Given the description of an element on the screen output the (x, y) to click on. 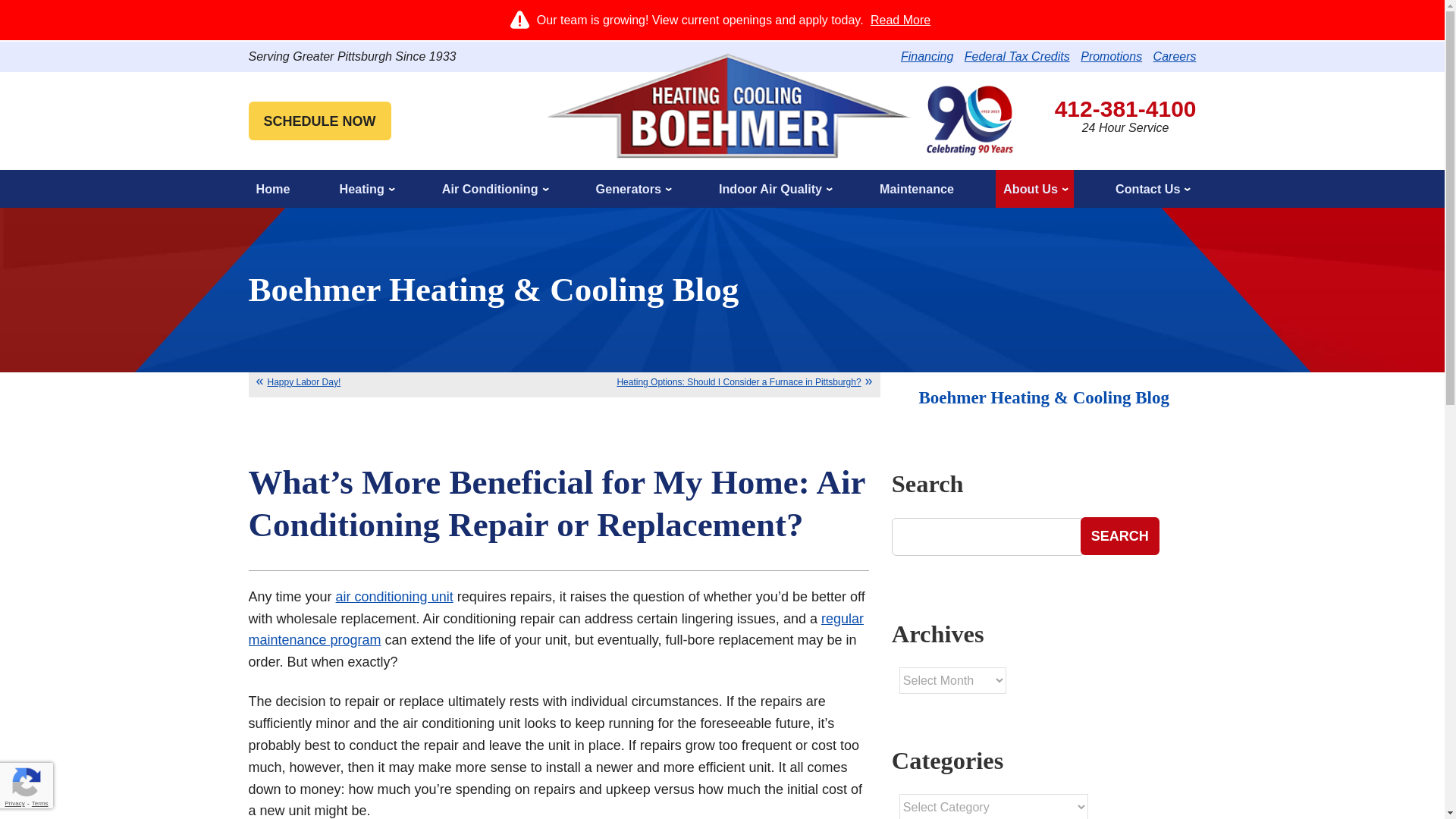
SCHEDULE NOW (319, 120)
Read More (900, 19)
Financing (927, 56)
Air Conditioning (493, 188)
412-381-4100 (1125, 108)
Careers (1174, 56)
Federal Tax Credits (1016, 56)
Heating (364, 188)
Promotions (1110, 56)
Generators (632, 188)
